Given the description of an element on the screen output the (x, y) to click on. 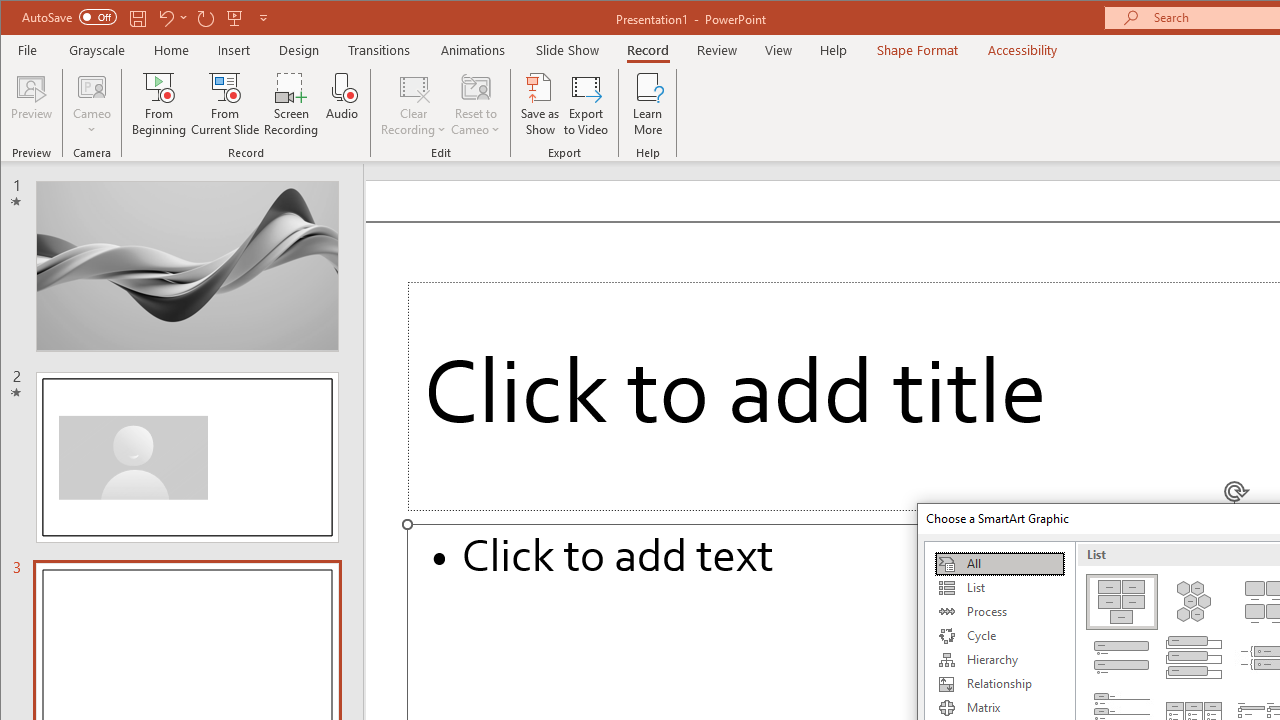
Clear Recording (413, 104)
Relationship (999, 683)
